Given the description of an element on the screen output the (x, y) to click on. 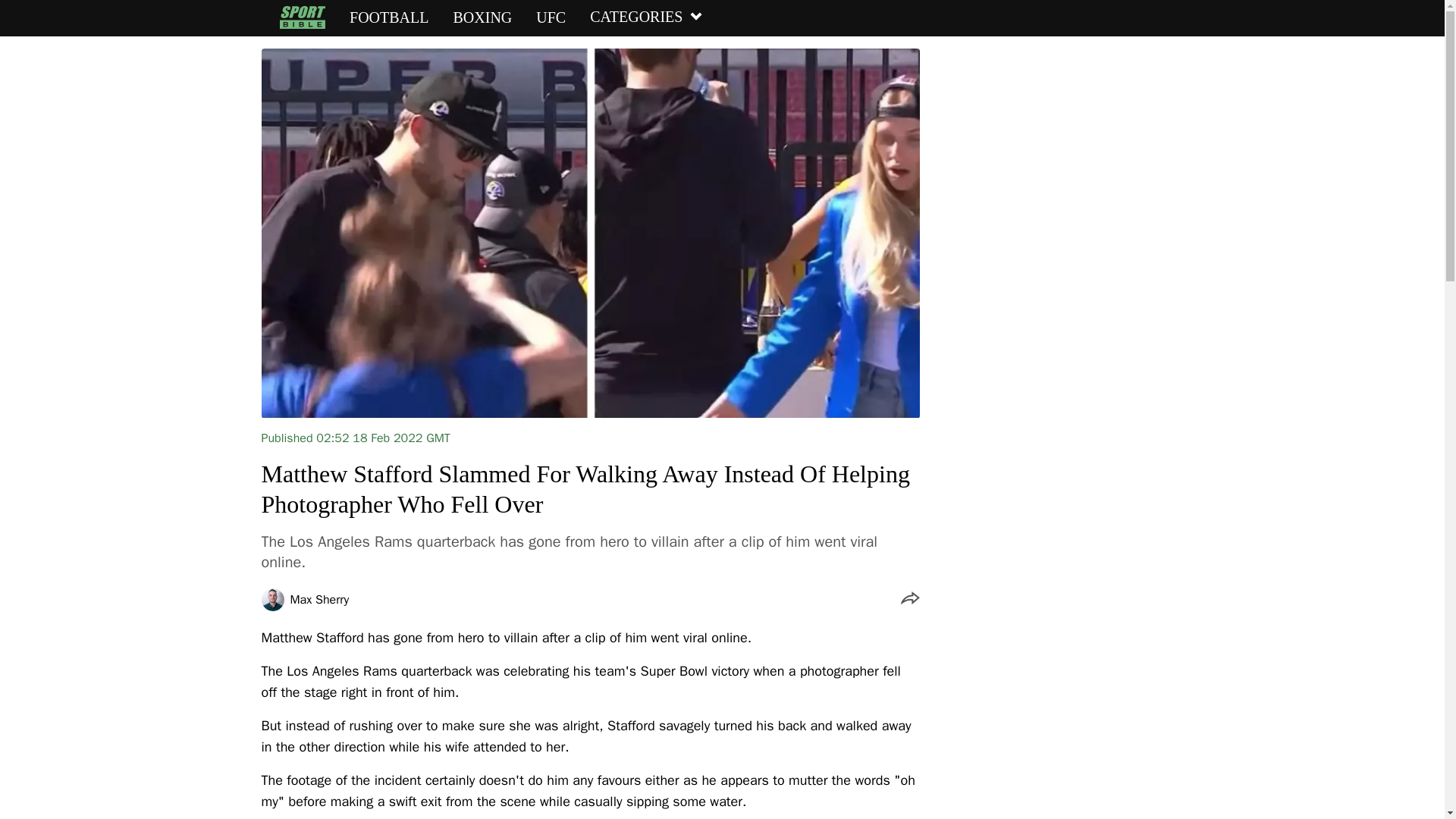
FOOTBALL (388, 17)
BOXING (482, 17)
